Given the description of an element on the screen output the (x, y) to click on. 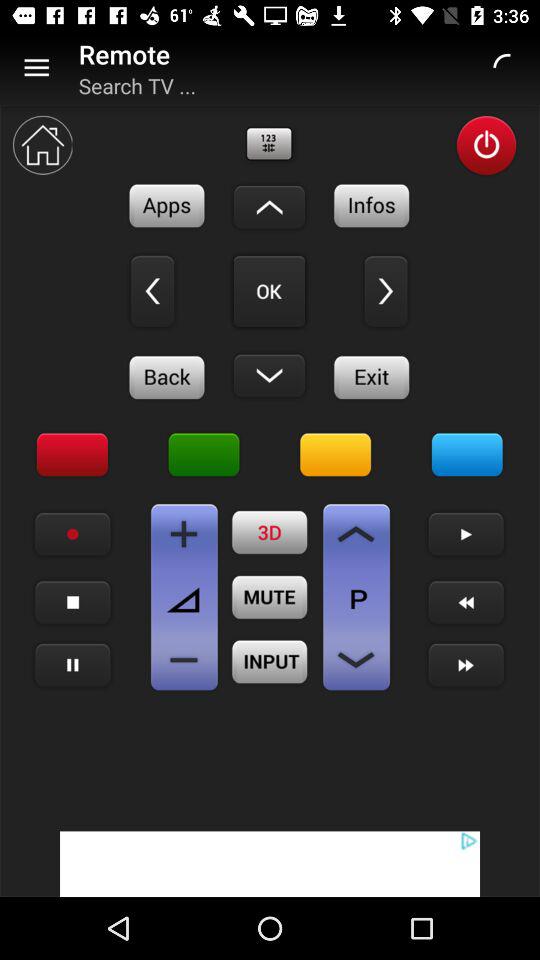
switch input video (269, 661)
